Given the description of an element on the screen output the (x, y) to click on. 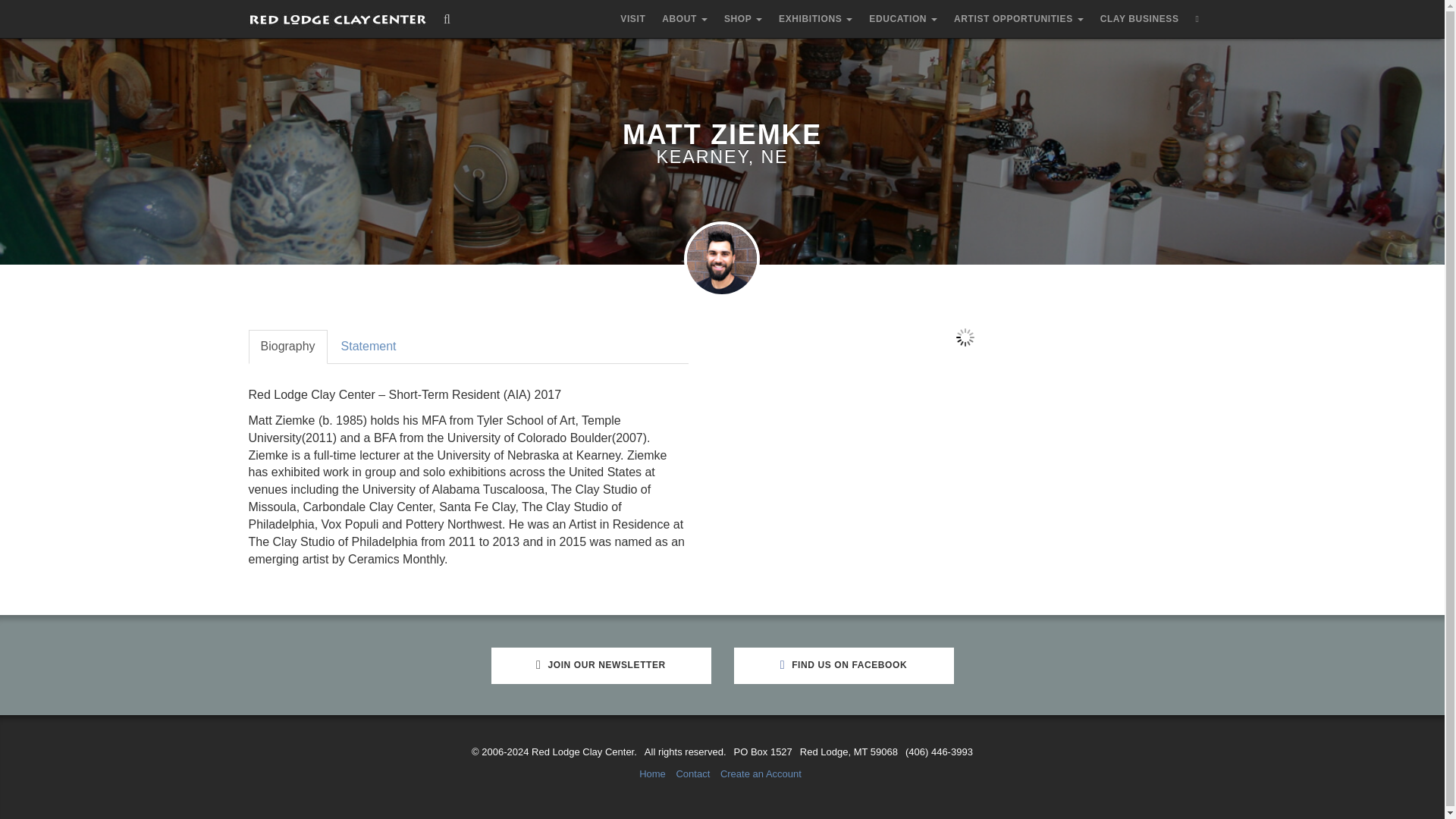
ARTIST OPPORTUNITIES (1018, 18)
ABOUT (684, 18)
JOIN OUR NEWSLETTER (601, 665)
SHOP (743, 18)
FIND US ON FACEBOOK (843, 665)
Shop (743, 18)
About (684, 18)
EXHIBITIONS (815, 18)
Exhibitions (815, 18)
CLAY BUSINESS (1140, 18)
